Given the description of an element on the screen output the (x, y) to click on. 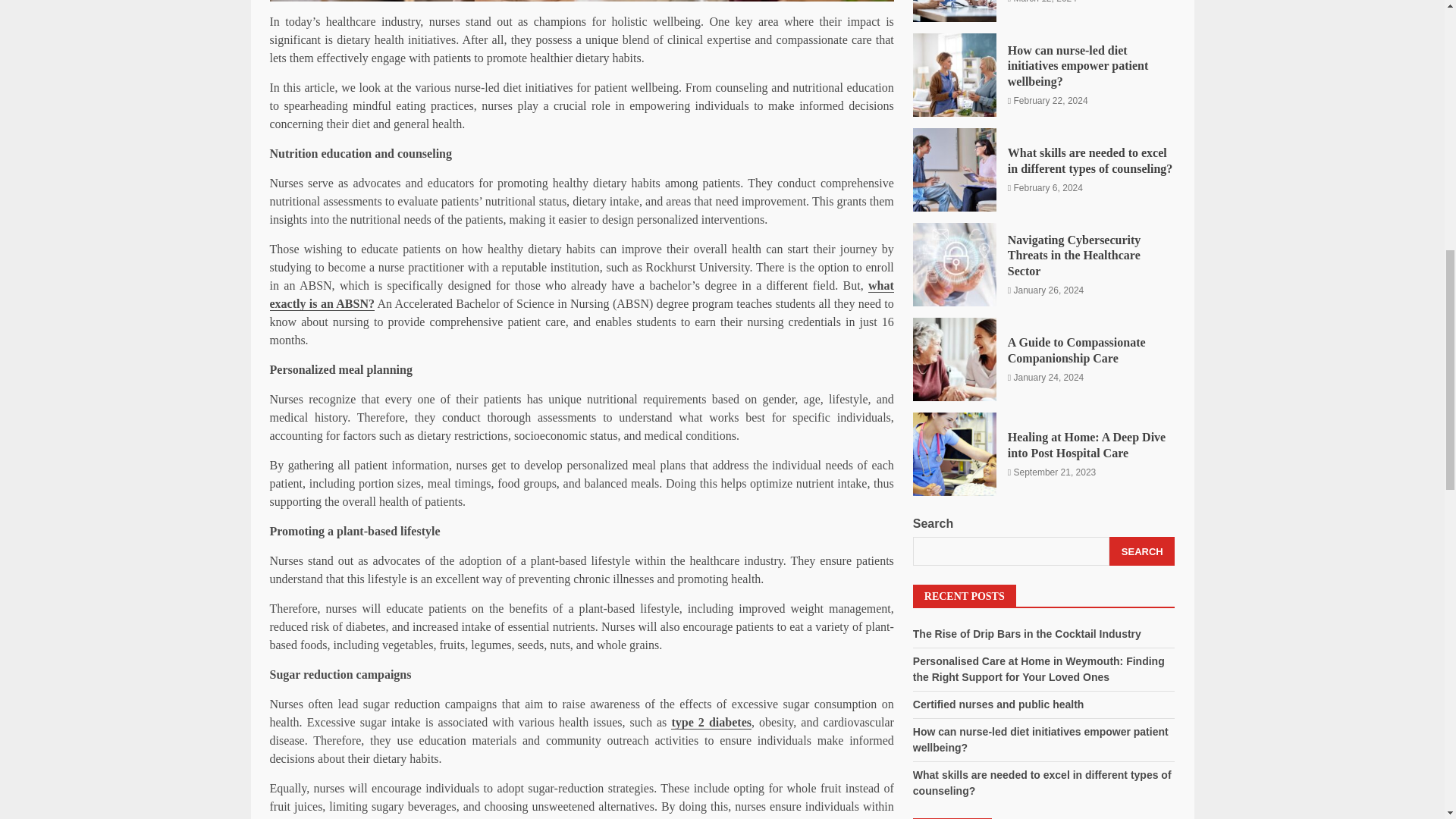
type 2 diabetes (711, 722)
Healing at Home: A Deep Dive into Post Hospital Care (953, 180)
what exactly is an ABSN? (581, 295)
A Guide to Compassionate Companionship Care (1076, 77)
A Guide to Compassionate Companionship Care (953, 86)
Navigating Cybersecurity Threats in the Healthcare Sector (1074, 2)
Navigating Cybersecurity Threats in the Healthcare Sector (953, 16)
